Given the description of an element on the screen output the (x, y) to click on. 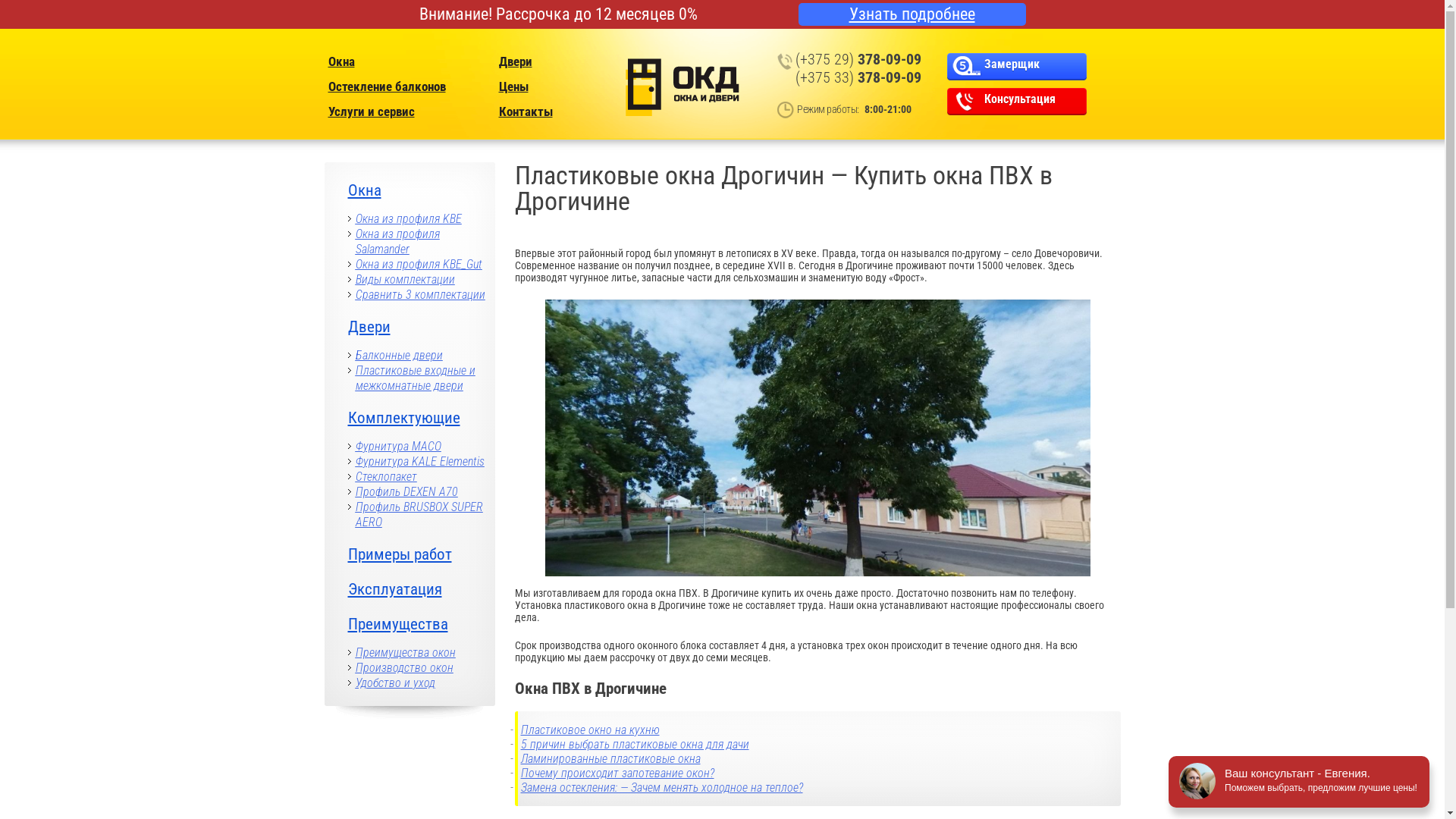
(+375 29) 378-09-09 Element type: text (858, 59)
(+375 33) 378-09-09 Element type: text (858, 77)
